Given the description of an element on the screen output the (x, y) to click on. 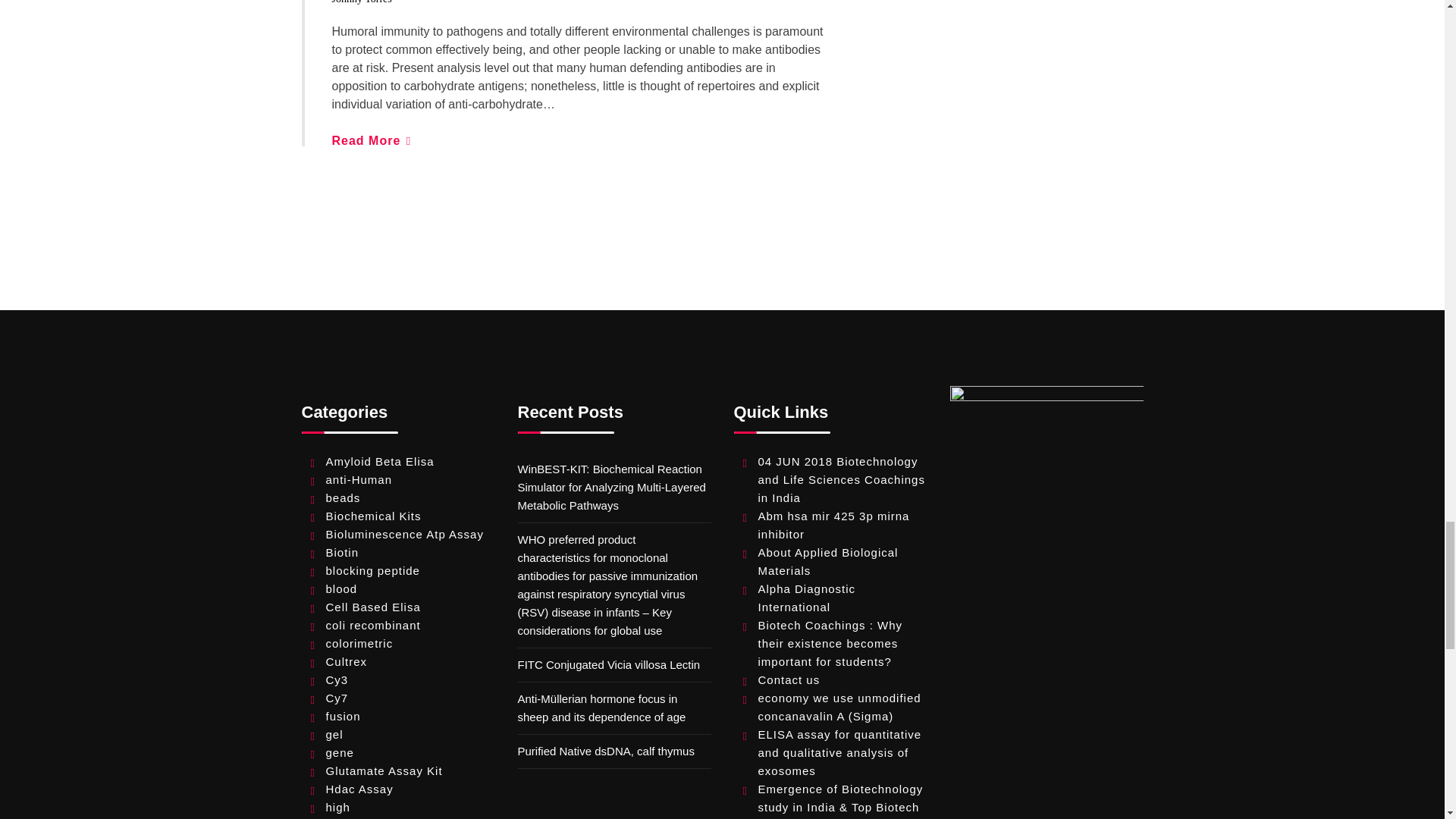
Johnny Torres (361, 2)
